Given the description of an element on the screen output the (x, y) to click on. 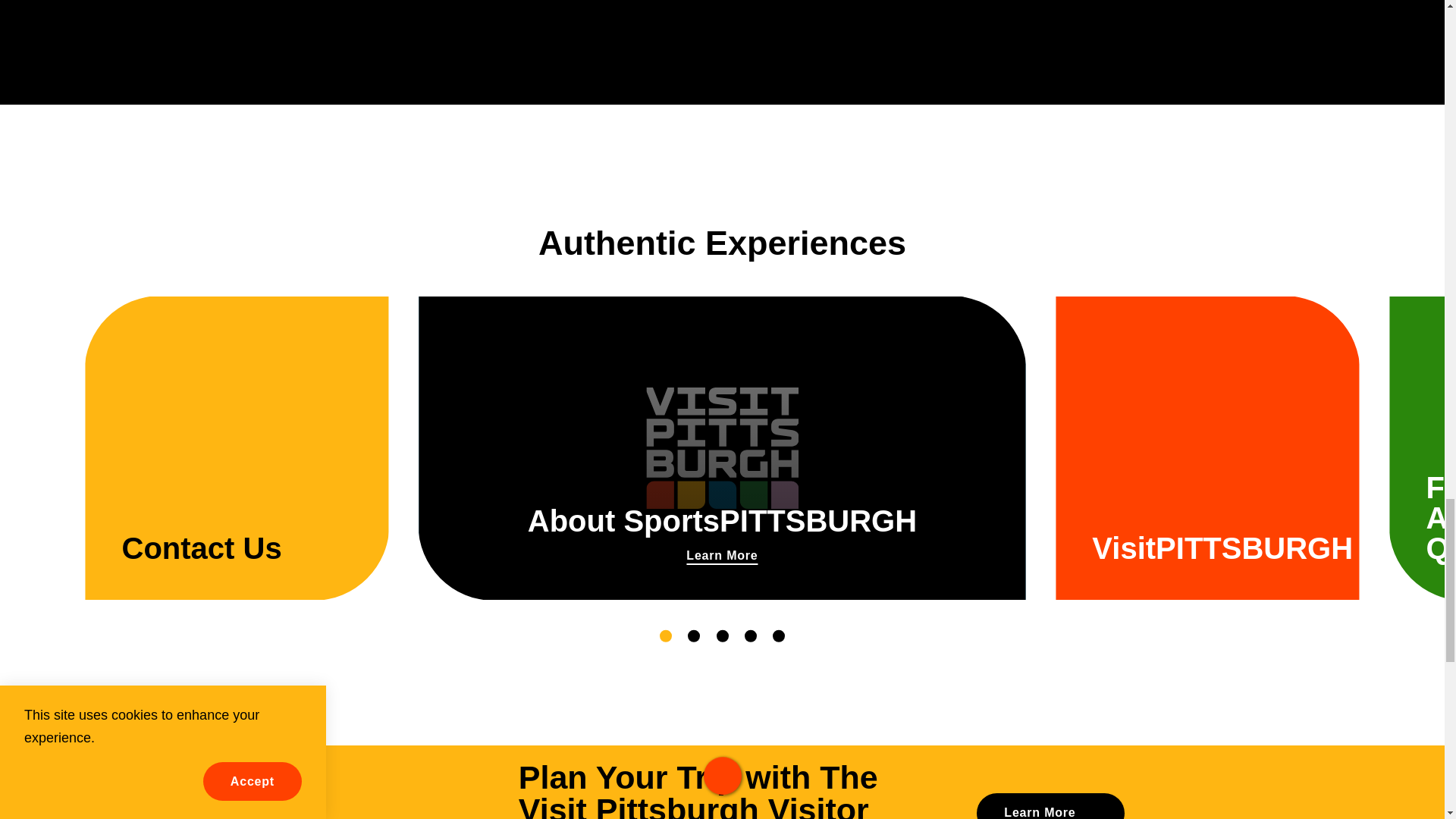
Plan Your Trip with The Visit Pittsburgh Visitor Guide (721, 790)
Contact Us (236, 447)
VisitPITTSBURGH (1050, 806)
